Given the description of an element on the screen output the (x, y) to click on. 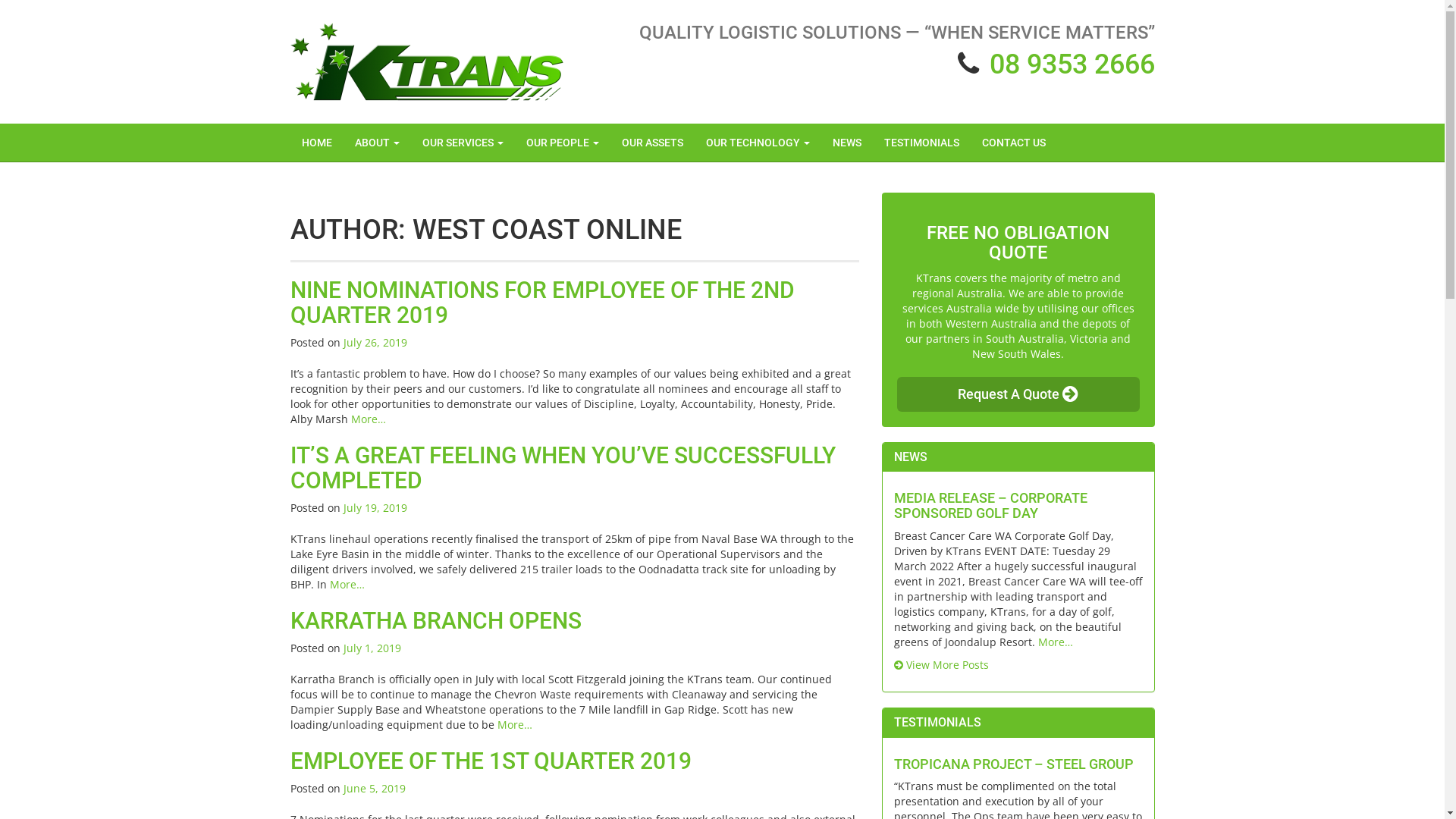
OUR PEOPLE Element type: text (561, 142)
Request A Quote Element type: text (1017, 393)
HOME Element type: text (315, 142)
OUR SERVICES Element type: text (462, 142)
NEWS Element type: text (846, 142)
CONTACT US Element type: text (1013, 142)
ABOUT Element type: text (376, 142)
KARRATHA BRANCH OPENS Element type: text (434, 620)
View More Posts Element type: text (940, 664)
KTrans Logo Element type: hover (425, 61)
July 26, 2019 Element type: text (374, 342)
June 5, 2019 Element type: text (373, 788)
OUR ASSETS Element type: text (651, 142)
NINE NOMINATIONS FOR EMPLOYEE OF THE 2ND QUARTER 2019 Element type: text (541, 302)
08 9353 2666 Element type: text (1071, 64)
July 19, 2019 Element type: text (374, 507)
TESTIMONIALS Element type: text (920, 142)
July 1, 2019 Element type: text (371, 647)
OUR TECHNOLOGY Element type: text (757, 142)
EMPLOYEE OF THE 1ST QUARTER 2019 Element type: text (489, 760)
